Given the description of an element on the screen output the (x, y) to click on. 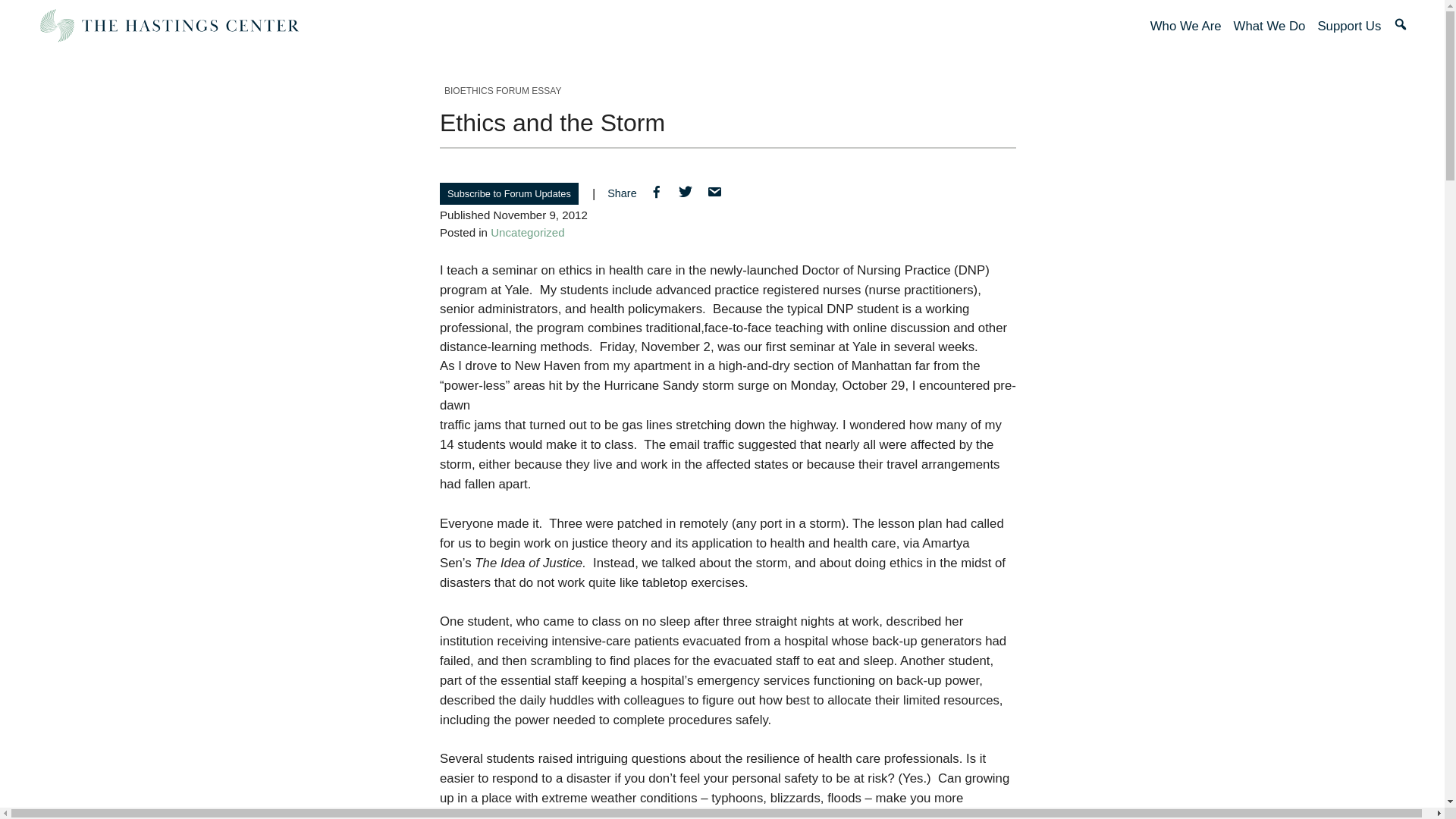
Uncategorized (527, 232)
Who We Are (1185, 26)
Subscribe to Forum Updates (508, 193)
What We Do (1269, 26)
Support Us (1348, 26)
The Hastings Center (168, 26)
